Given the description of an element on the screen output the (x, y) to click on. 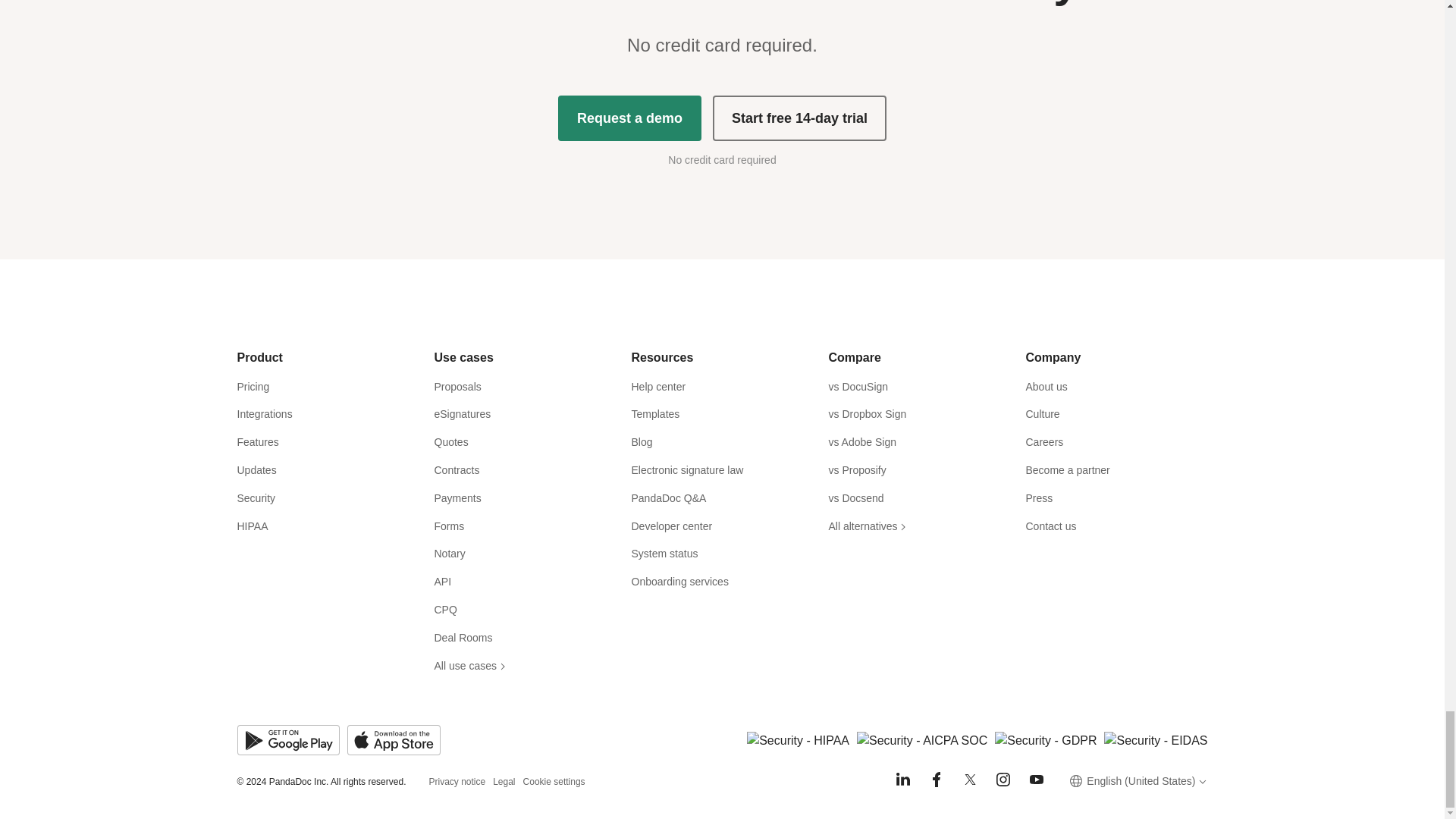
Facebook (935, 779)
Youtube (1036, 779)
Twitter (969, 779)
LinkedIn (902, 779)
Instagram (1002, 779)
